Given the description of an element on the screen output the (x, y) to click on. 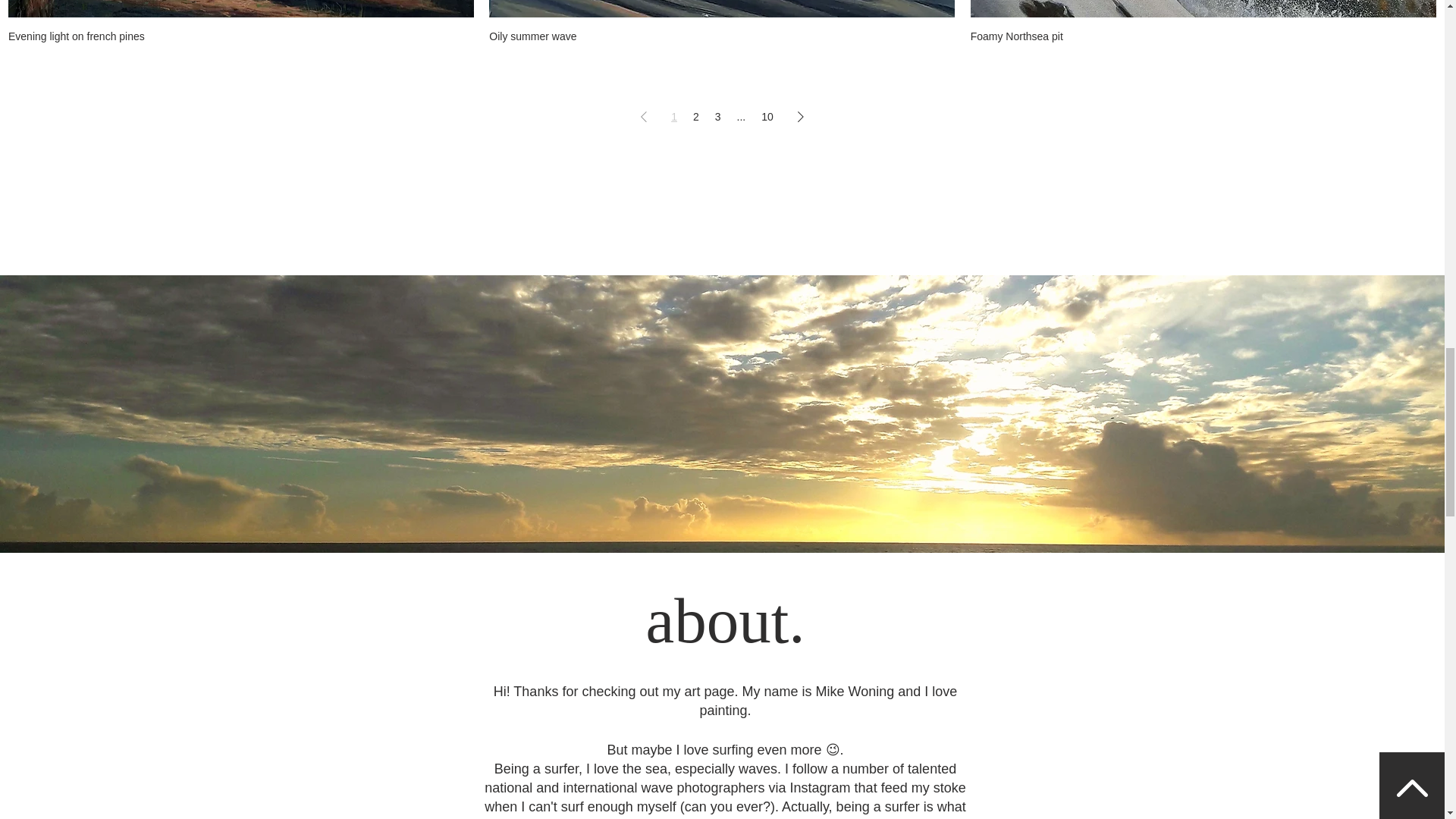
Oily summer wave (722, 37)
SOLD (722, 8)
Foamy Northsea pit (1203, 37)
10 (766, 116)
Evening light on french pines (241, 37)
